Given the description of an element on the screen output the (x, y) to click on. 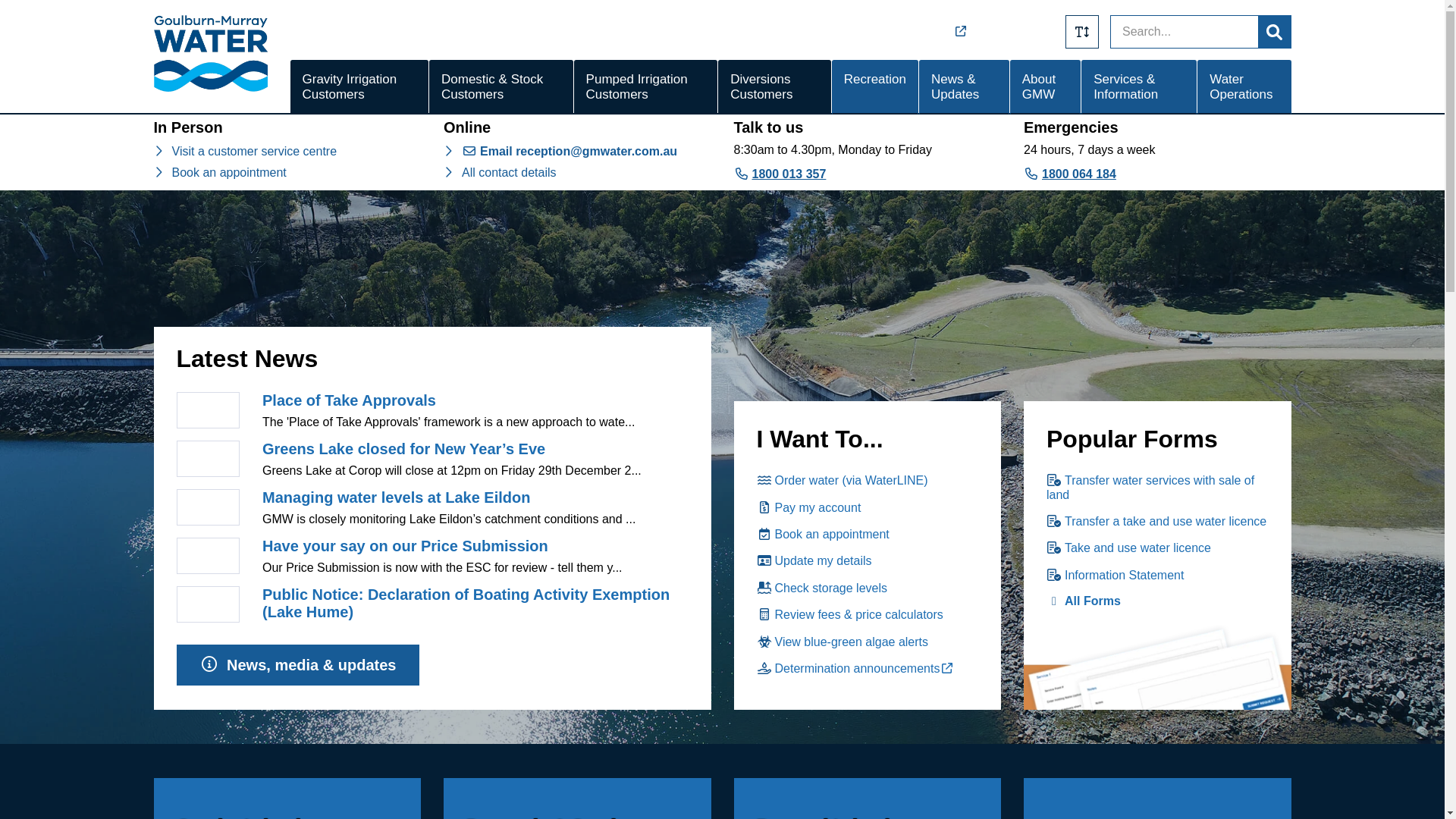
View blue-green algae alerts Element type: text (842, 641)
Place of Take Approvals Element type: text (349, 400)
All contact details Element type: text (508, 172)
Toggle Text Size Element type: text (1081, 31)
News & Updates Element type: text (964, 86)
Water Operations Element type: text (1243, 86)
Have your say on our Price Submission Element type: text (405, 545)
Information Statement Element type: text (1114, 574)
Managing water levels at Lake Eildon Element type: text (396, 497)
About GMW Element type: text (1045, 86)
News, media & updates Element type: text (297, 665)
Pay my account Element type: text (808, 507)
Domestic & Stock Customers Element type: text (501, 86)
Recreation Element type: text (874, 86)
Determination announcements Element type: text (857, 668)
Contact Us Element type: text (1025, 31)
Email reception@gmwater.com.au Element type: text (569, 150)
Check storage levels Element type: text (822, 587)
Visit a customer service centre Element type: text (253, 150)
Return to the home page Element type: hover (209, 87)
Update my details Element type: text (814, 560)
1800 064 184 Element type: text (1069, 173)
Take and use water licence Element type: text (1128, 547)
Gravity Irrigation Customers Element type: text (358, 86)
Careers Element type: text (801, 31)
Contractor Induction Element type: text (969, 31)
Book an appointment Element type: text (822, 533)
Search Element type: text (1273, 31)
Transfer water services with sale of land Element type: text (1150, 486)
Procurement & Tenders Element type: text (857, 31)
Pumped Irrigation Customers Element type: text (646, 86)
Transfer a take and use water licence Element type: text (1156, 520)
Review fees & price calculators Element type: text (849, 614)
Your Say @ GMW Element type: text (913, 31)
Book an appointment Element type: text (228, 172)
Order water (via WaterLINE) Element type: text (842, 479)
Diversions Customers Element type: text (774, 86)
1800 013 357 Element type: text (780, 173)
All Forms Element type: text (1083, 600)
Services & Information Element type: text (1138, 86)
